Given the description of an element on the screen output the (x, y) to click on. 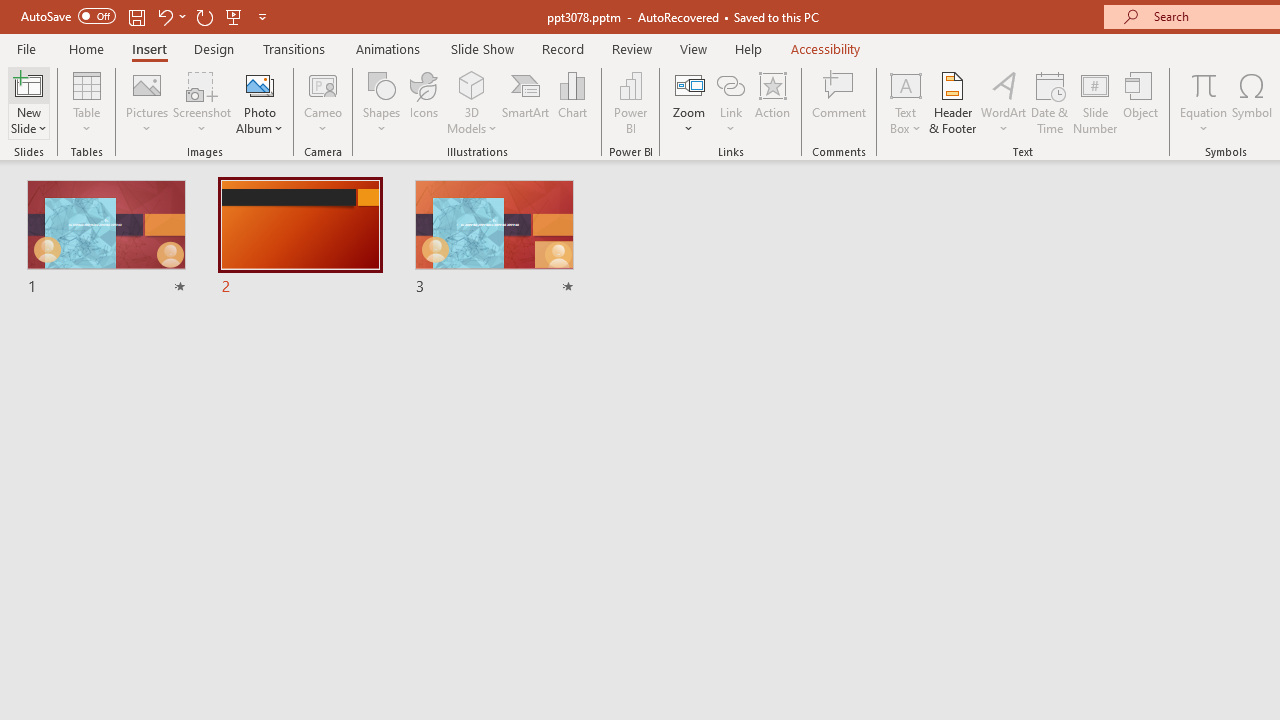
Icons (424, 102)
Chart... (572, 102)
Header & Footer... (952, 102)
3D Models (472, 102)
Comment (839, 102)
Power BI (630, 102)
